Given the description of an element on the screen output the (x, y) to click on. 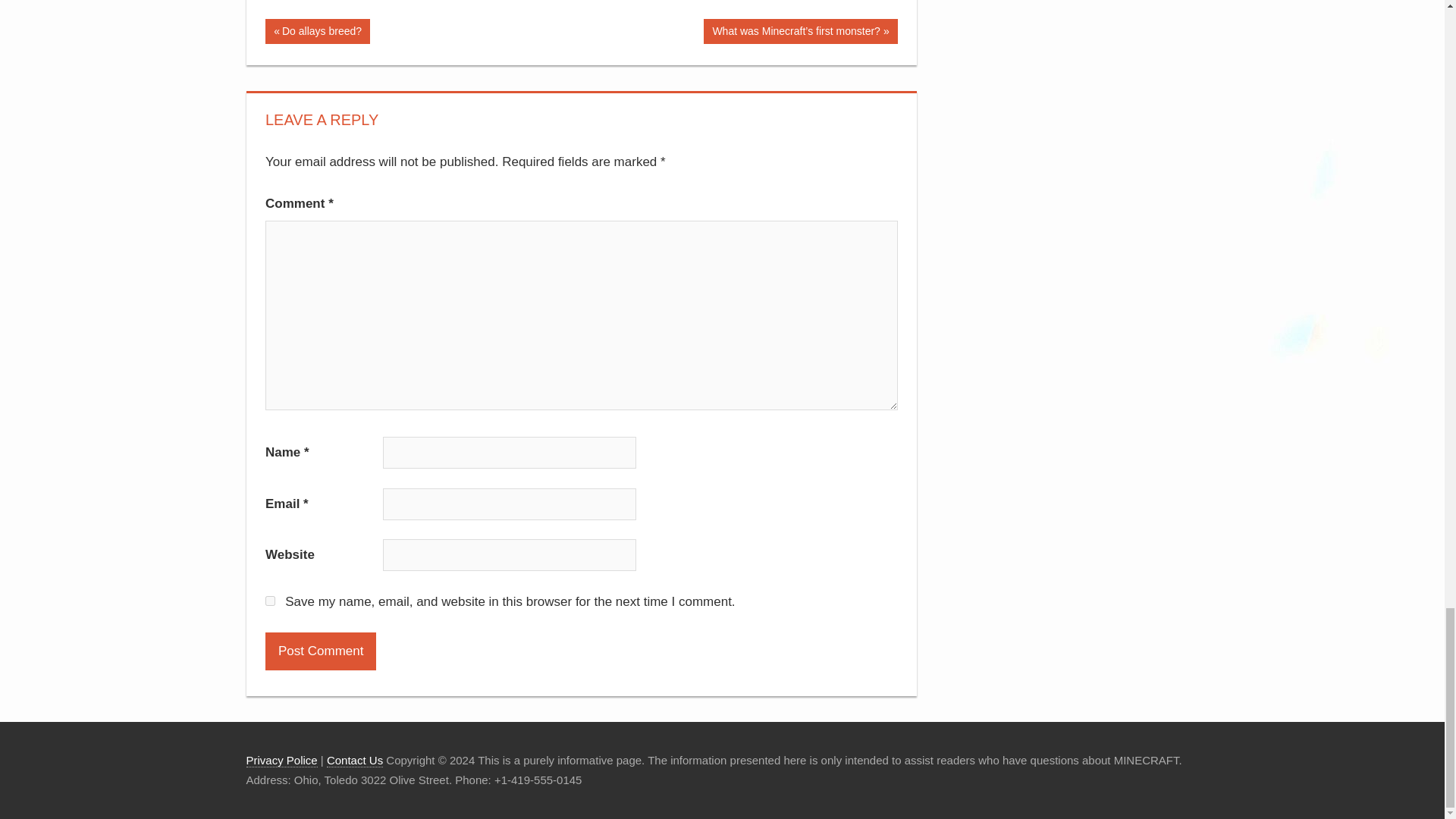
Post Comment (319, 651)
Post Comment (319, 651)
yes (269, 601)
